Given the description of an element on the screen output the (x, y) to click on. 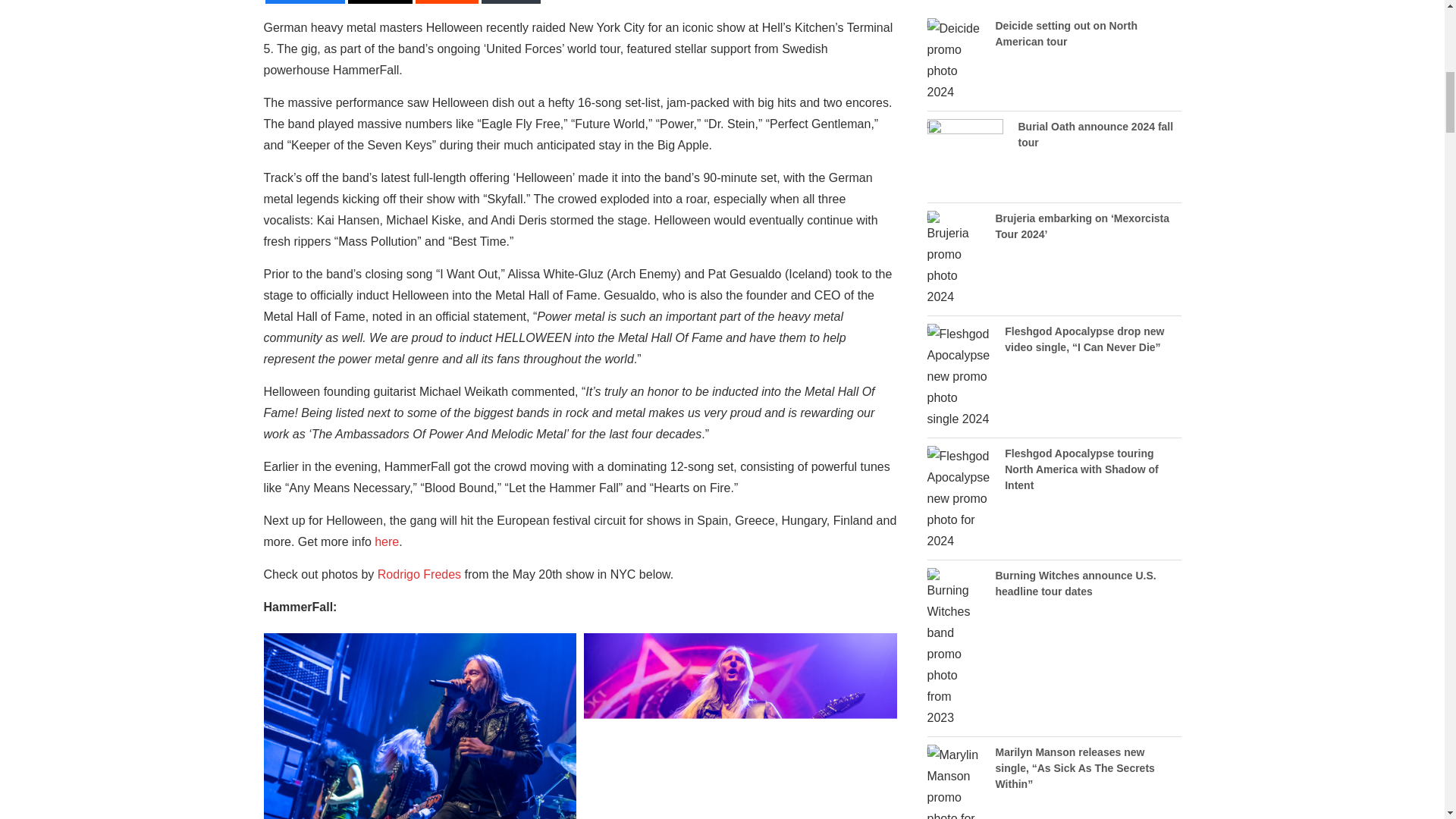
Share this article on Facebook (304, 2)
Share this article on Twitter (379, 2)
Share this article on Reddit (446, 2)
